Given the description of an element on the screen output the (x, y) to click on. 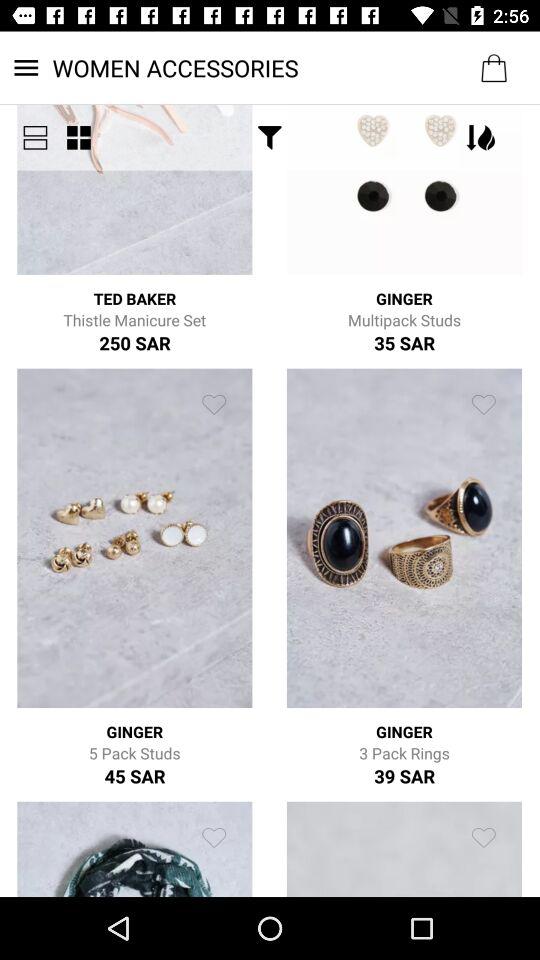
launch the icon below the women accessories item (269, 137)
